Given the description of an element on the screen output the (x, y) to click on. 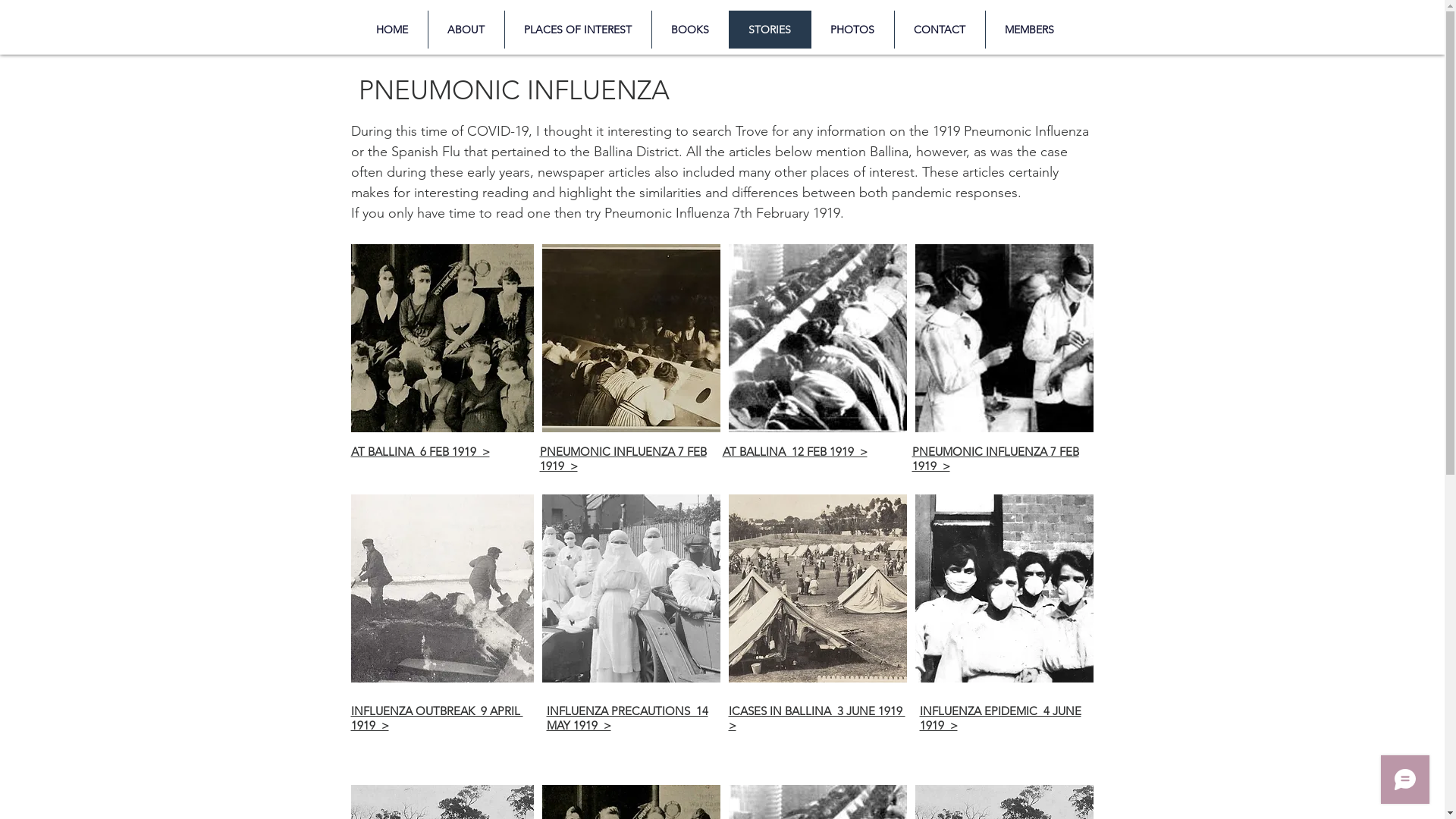
AT BALLINA  12 FEB 1919  > Element type: text (793, 451)
INFLUENZA EPIDEMIC  4 JUNE 1919  > Element type: text (999, 717)
STORIES Element type: text (768, 29)
CONTACT Element type: text (938, 29)
PNEUMONIC INFLUENZA 7 FEB 1919  > Element type: text (994, 458)
HOME Element type: text (391, 29)
MEMBERS Element type: text (1028, 29)
INFLUENZA OUTBREAK  9 APRIL  1919  > Element type: text (436, 717)
BOOKS Element type: text (689, 29)
PLACES OF INTEREST Element type: text (576, 29)
AT BALLINA  6 FEB 1919  > Element type: text (419, 451)
PNEUMONIC INFLUENZA 7 FEB 1919  > Element type: text (622, 458)
ICASES IN BALLINA  3 JUNE 1919  > Element type: text (816, 717)
PHOTOS Element type: text (851, 29)
INFLUENZA PRECAUTIONS  14 MAY 1919  > Element type: text (626, 717)
ABOUT Element type: text (465, 29)
